Given the description of an element on the screen output the (x, y) to click on. 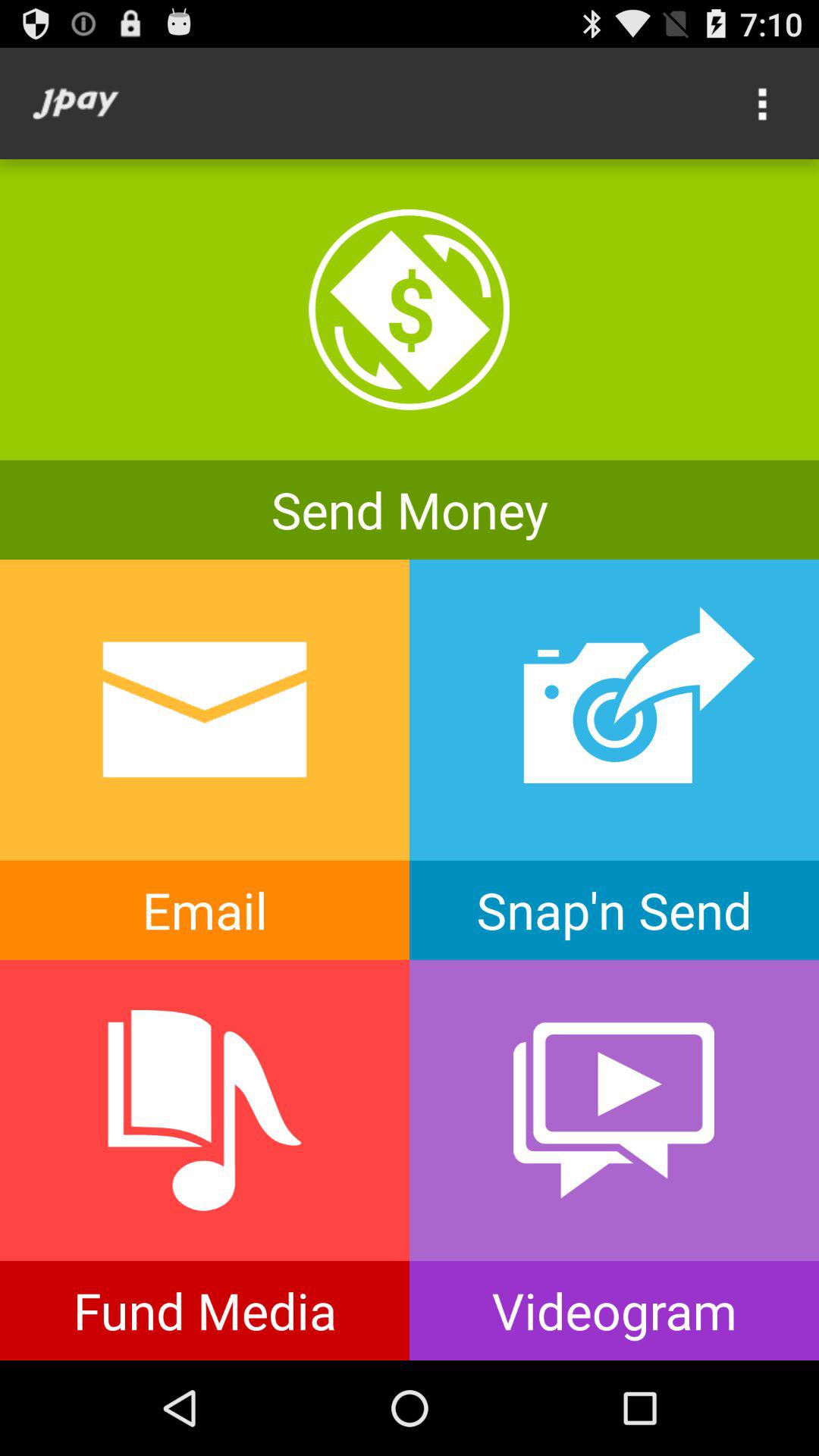
select menu (763, 103)
